Given the description of an element on the screen output the (x, y) to click on. 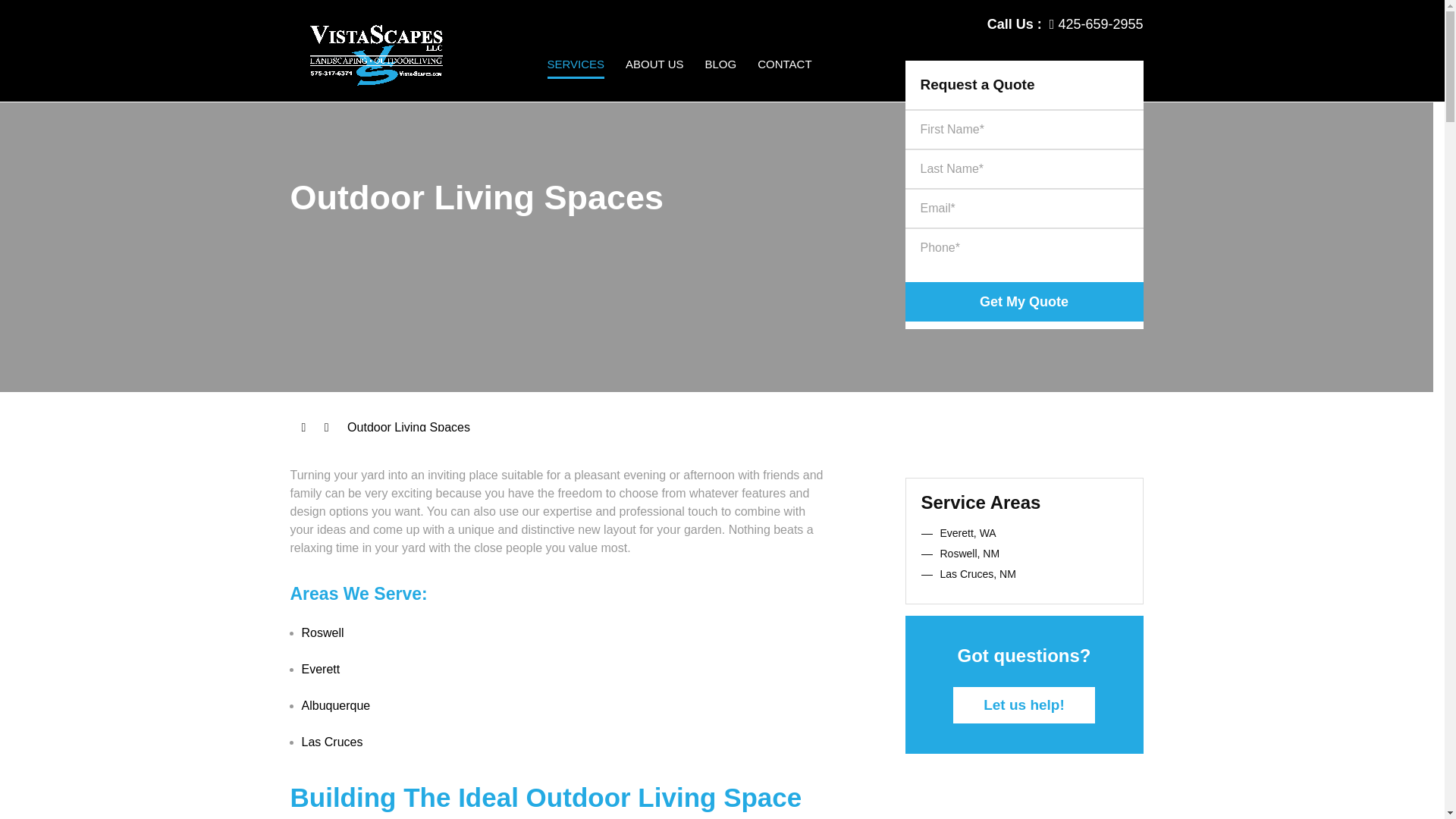
Get My Quote (1023, 301)
SERVICES (576, 79)
Everett (320, 668)
CONTACT (783, 79)
Albuquerque (336, 705)
Las Cruces (331, 741)
Everett, WA (967, 532)
Roswell, NM (970, 553)
Las Cruces, NM (978, 573)
Get My Quote (1023, 301)
425-659-2955 (1095, 23)
Let us help! (1023, 705)
Roswell (322, 632)
ABOUT US (654, 79)
